Given the description of an element on the screen output the (x, y) to click on. 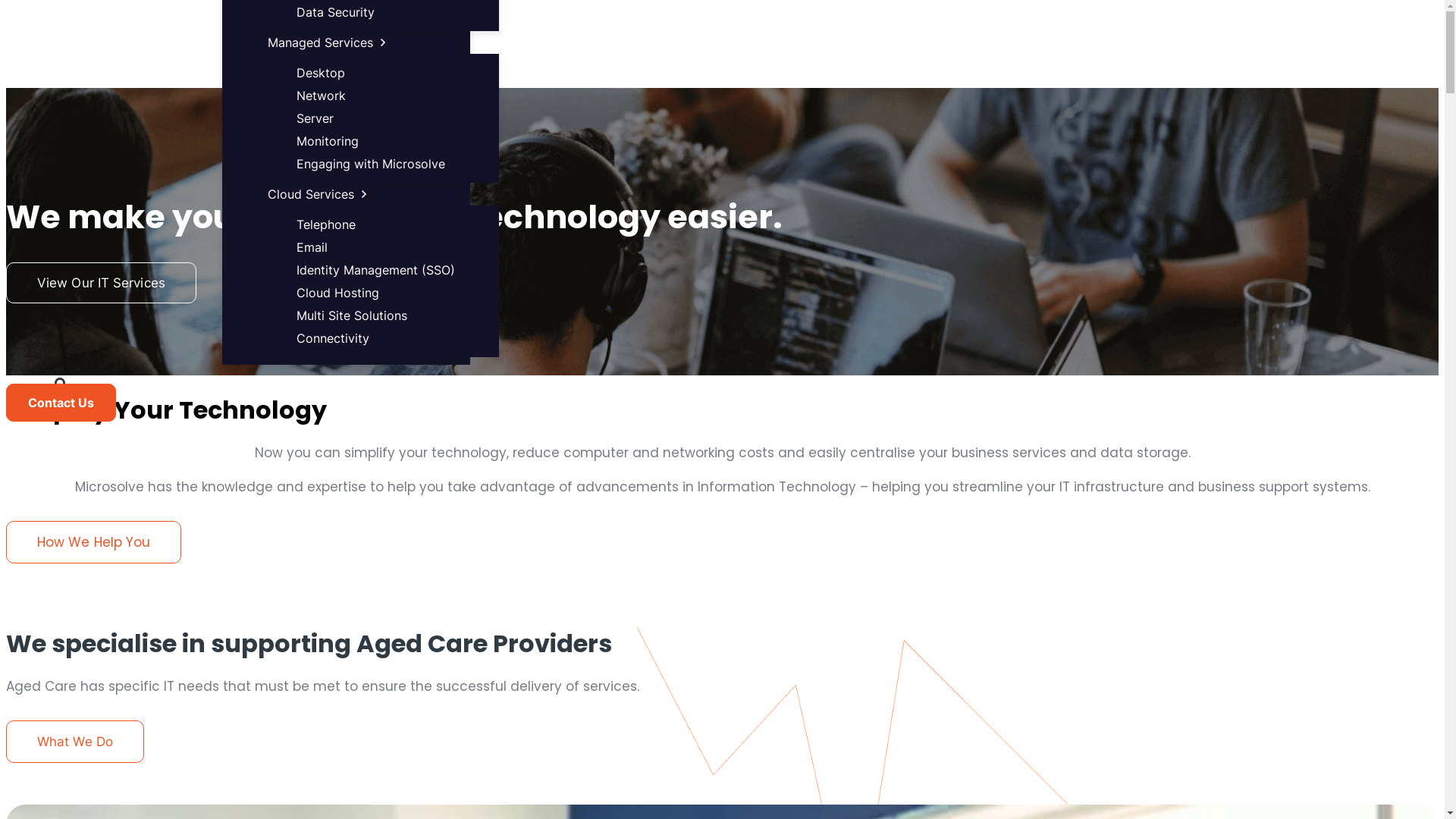
Connectivity Element type: text (332, 338)
Telephone Element type: text (325, 224)
Identity Management (SSO) Element type: text (375, 269)
Contact Us Element type: text (61, 402)
Managed Services Element type: text (328, 42)
Server Element type: text (314, 118)
Network Element type: text (320, 95)
Monitoring Element type: text (327, 140)
Desktop Element type: text (320, 72)
Multi Site Solutions Element type: text (351, 315)
How We Help You Element type: text (93, 541)
Engaging with Microsolve Element type: text (370, 163)
What We Do Element type: text (75, 741)
Email Element type: text (311, 247)
View Our IT Services Element type: text (101, 282)
Cloud Hosting Element type: text (337, 292)
Cloud Services Element type: text (318, 193)
